Given the description of an element on the screen output the (x, y) to click on. 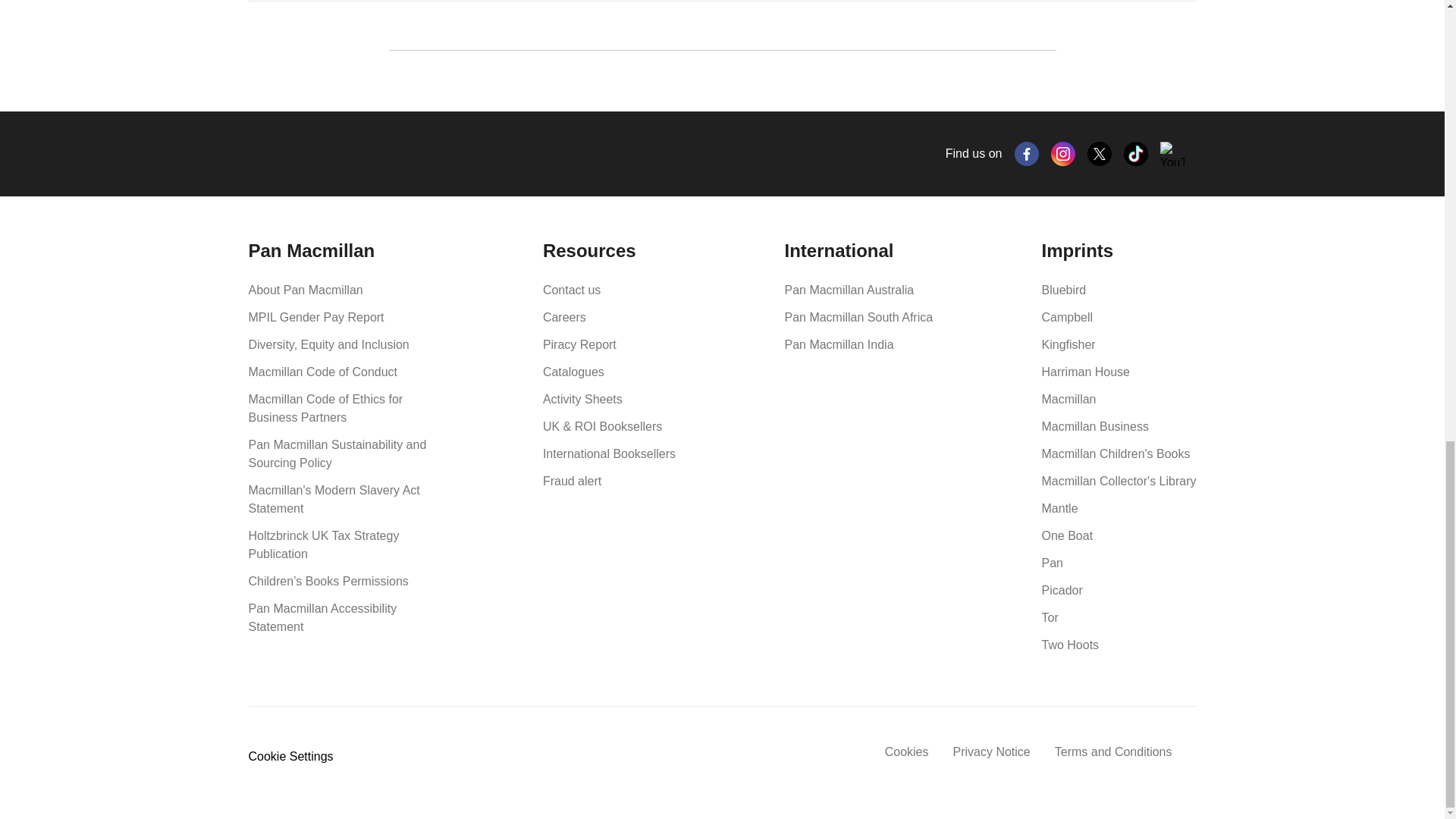
Instagram (1063, 153)
TikTok (1136, 153)
YouTube (1172, 153)
Facebook (1026, 153)
